Given the description of an element on the screen output the (x, y) to click on. 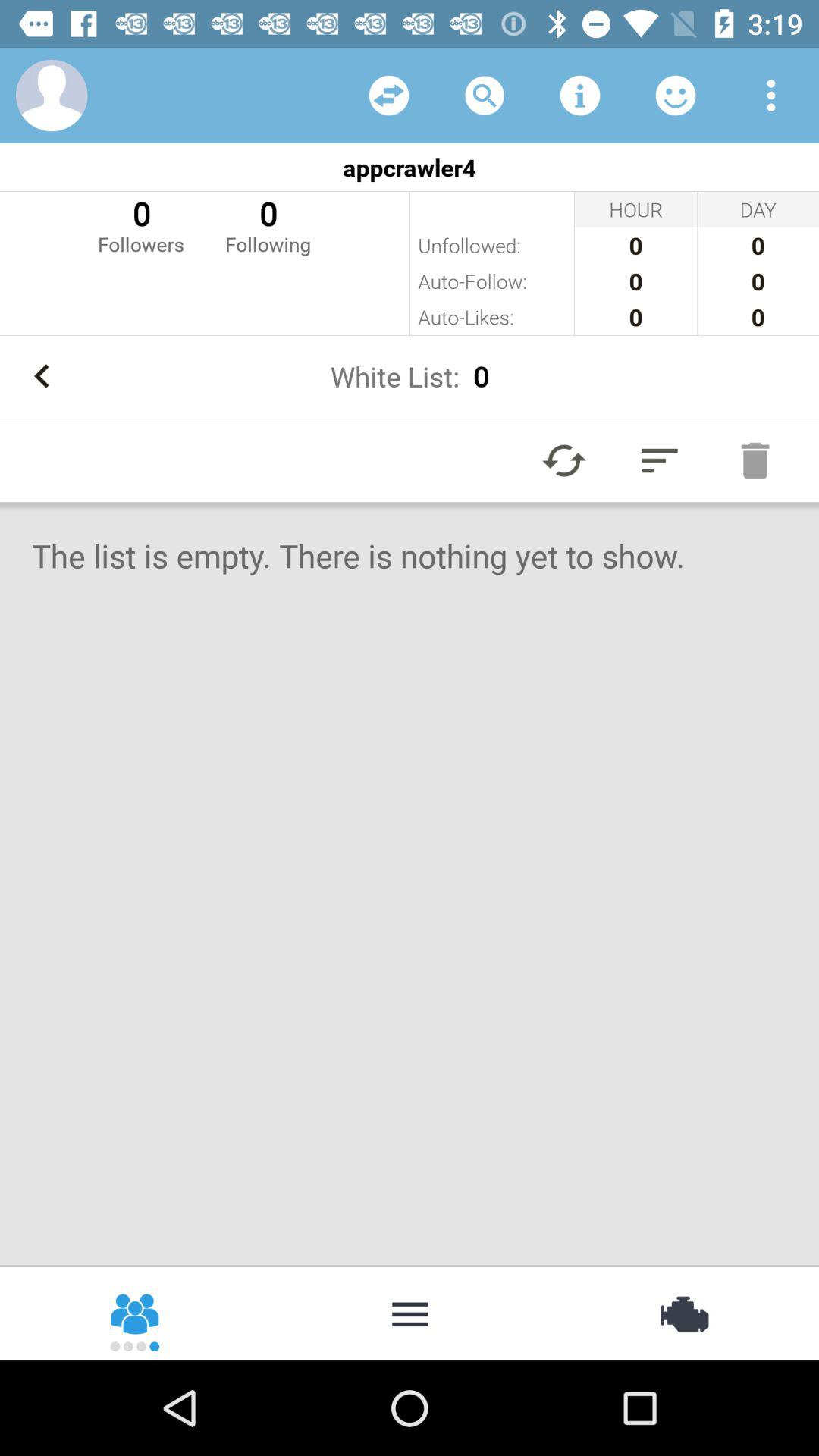
open item below the white list:  0 item (659, 460)
